Given the description of an element on the screen output the (x, y) to click on. 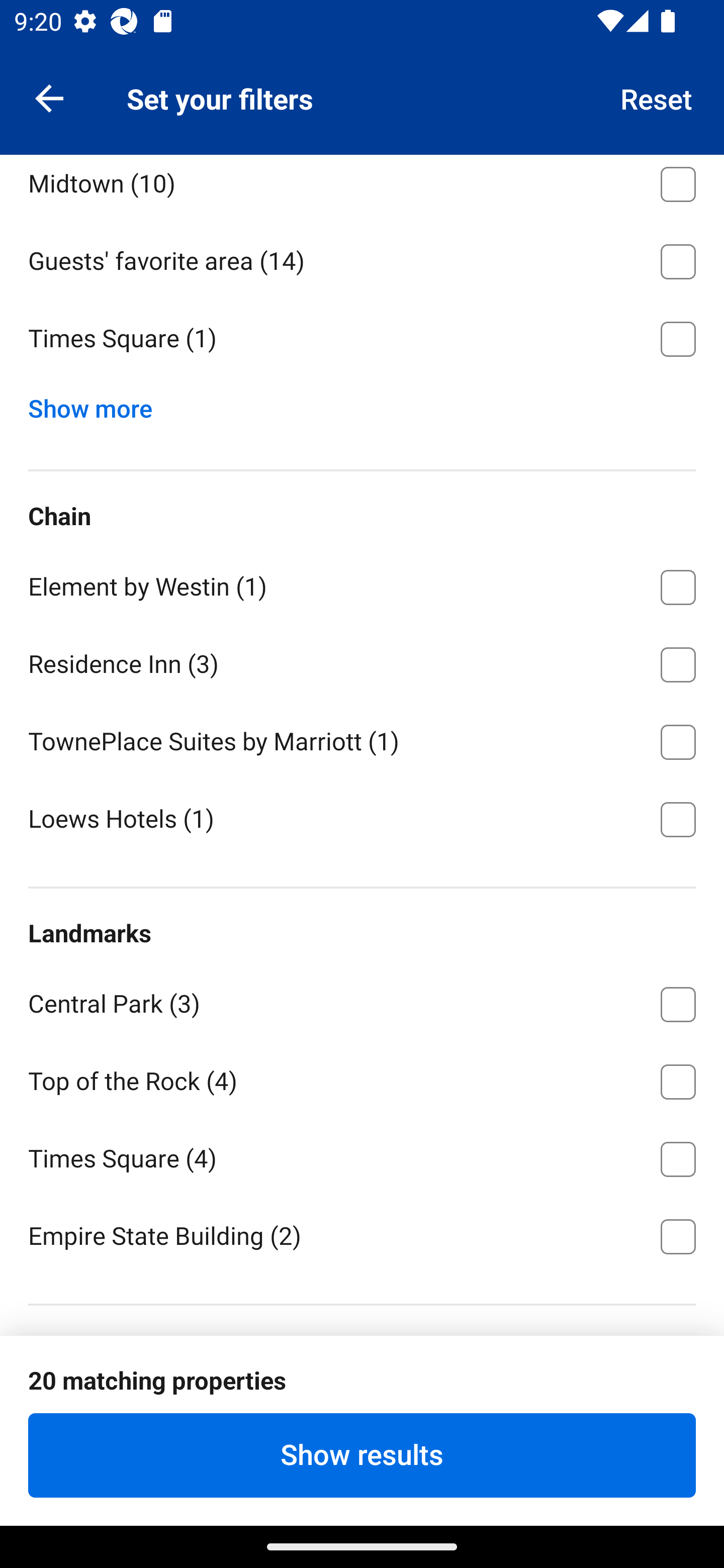
Navigate up (49, 97)
Reset (656, 97)
Tribeca ⁦(1) (361, 103)
Midtown ⁦(10) (361, 187)
Guests' favorite area ⁦(14) (361, 257)
Times Square ⁦(1) (361, 338)
Show more (97, 403)
Element by Westin ⁦(1) (361, 583)
Residence Inn ⁦(3) (361, 660)
TownePlace Suites by Marriott ⁦(1) (361, 738)
Loews Hotels ⁦(1) (361, 817)
Central Park ⁦(3) (361, 1000)
Top of the Rock ⁦(4) (361, 1077)
Times Square ⁦(4) (361, 1155)
Empire State Building ⁦(2) (361, 1234)
Show results (361, 1454)
